Given the description of an element on the screen output the (x, y) to click on. 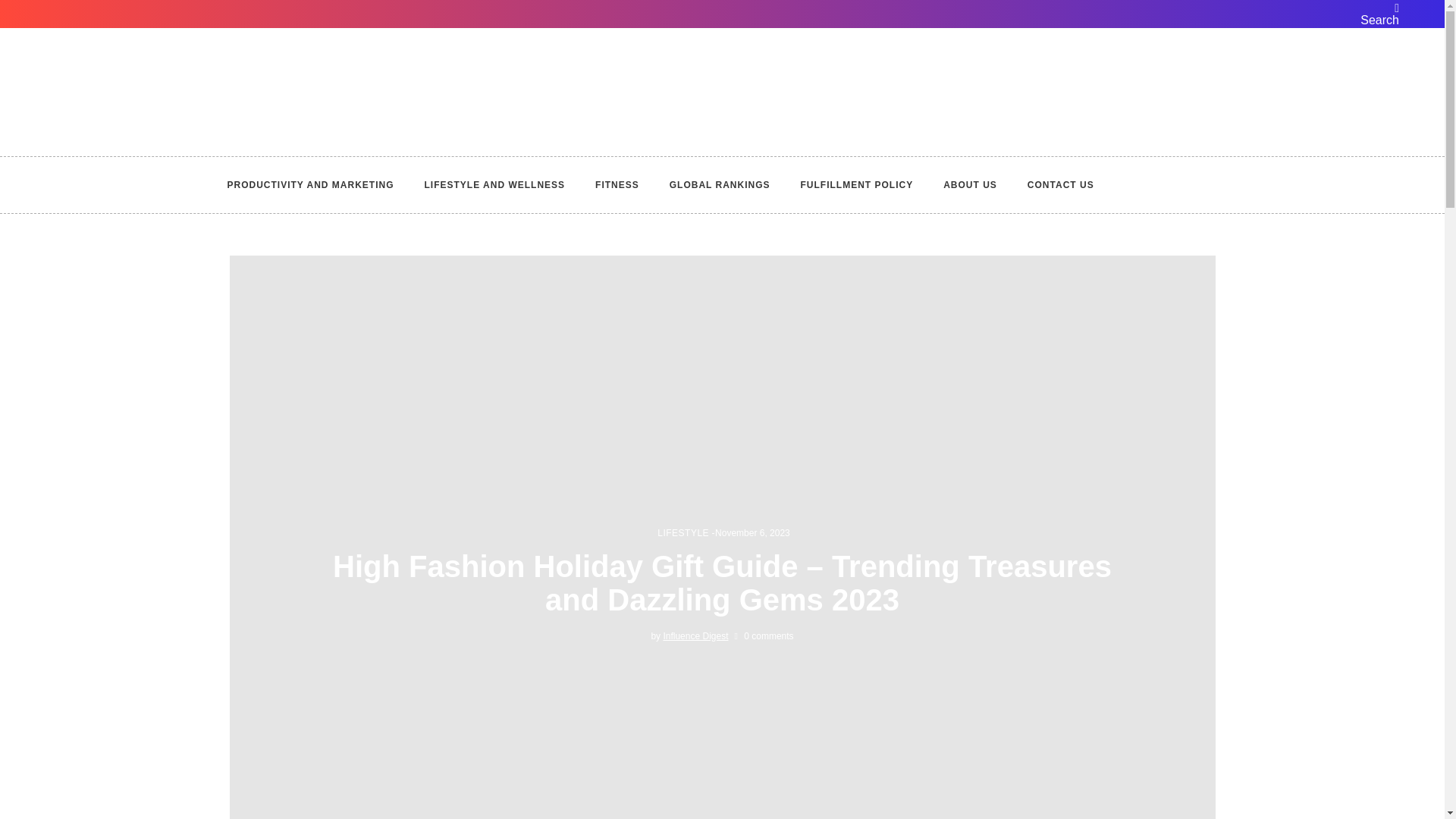
PRODUCTIVITY AND MARKETING (318, 184)
LIFESTYLE (683, 532)
CONTACT US (1060, 184)
November 6, 2023 (752, 532)
FITNESS (616, 184)
ABOUT US (969, 184)
GLOBAL RANKINGS (719, 184)
FULFILLMENT POLICY (857, 184)
Influence Digest (695, 635)
Search (1377, 14)
LIFESTYLE AND WELLNESS (494, 184)
0 comments (763, 635)
